Given the description of an element on the screen output the (x, y) to click on. 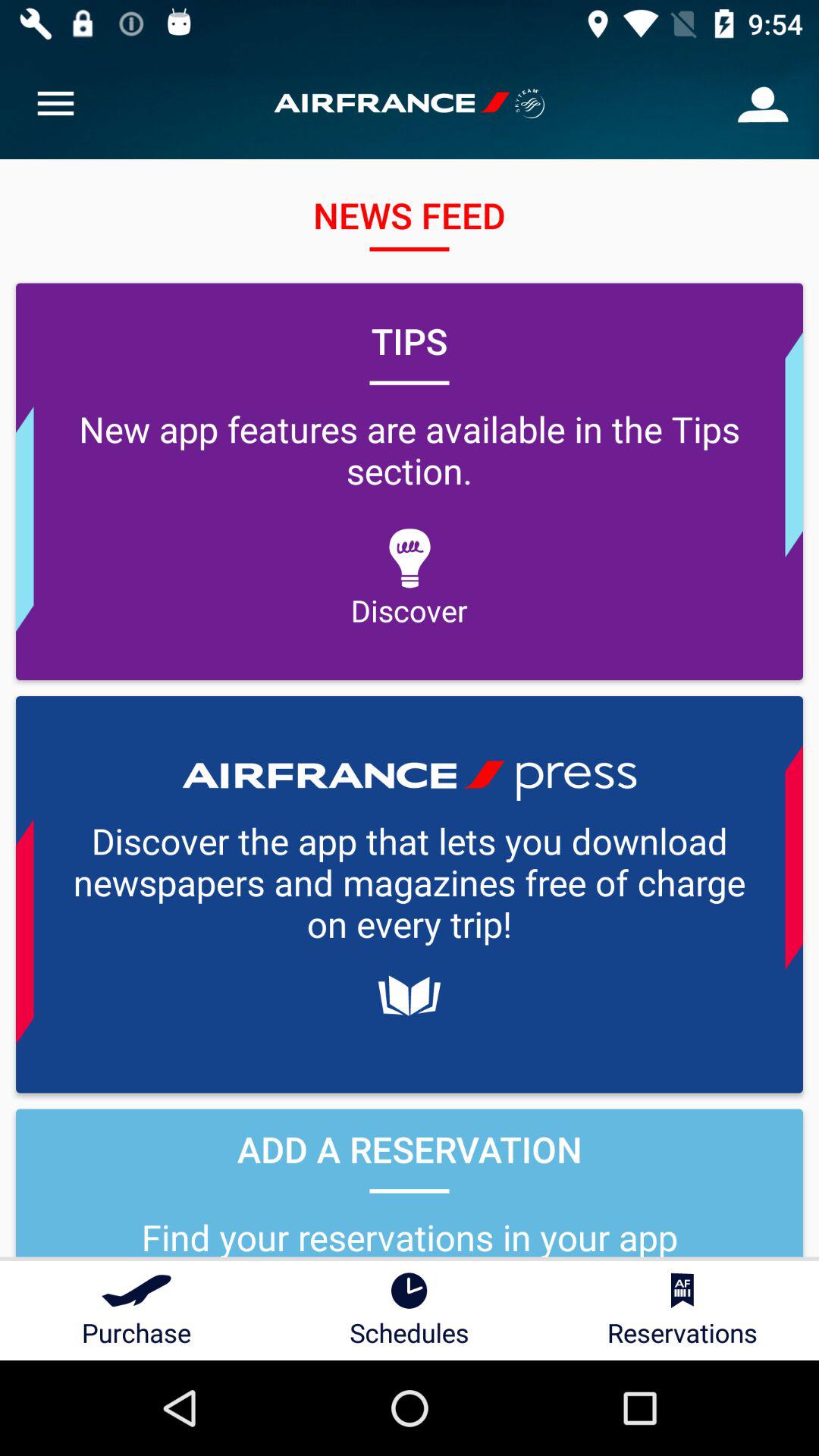
launch the icon at the top right corner (763, 103)
